Given the description of an element on the screen output the (x, y) to click on. 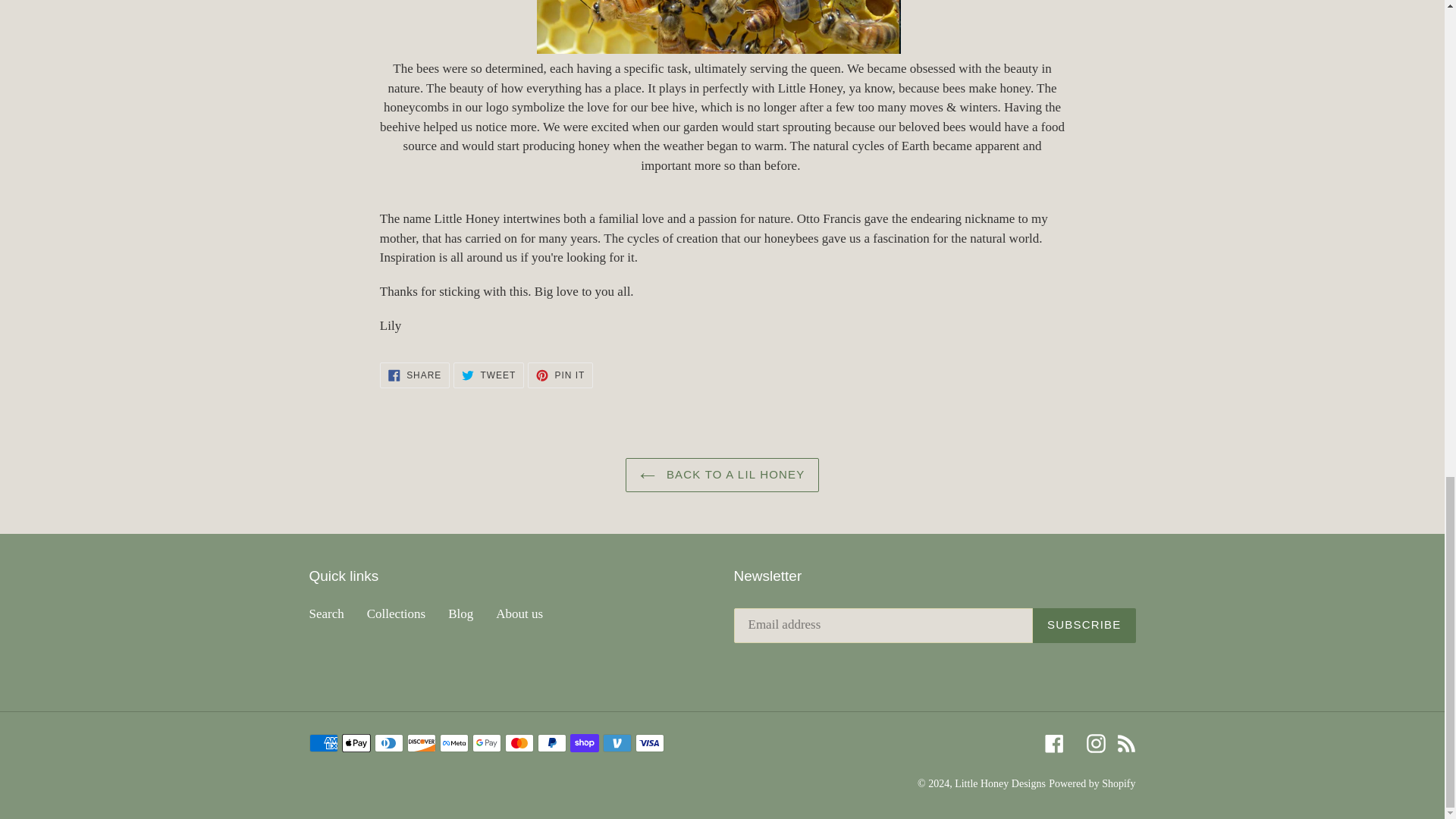
BACK TO A LIL HONEY (722, 474)
Search (325, 612)
About us (519, 612)
Little Honey Designs (1000, 782)
Facebook (1054, 743)
Blog (559, 375)
Instagram (460, 612)
RSS (1095, 743)
Collections (1125, 743)
Powered by Shopify (395, 612)
SUBSCRIBE (1091, 782)
